Given the description of an element on the screen output the (x, y) to click on. 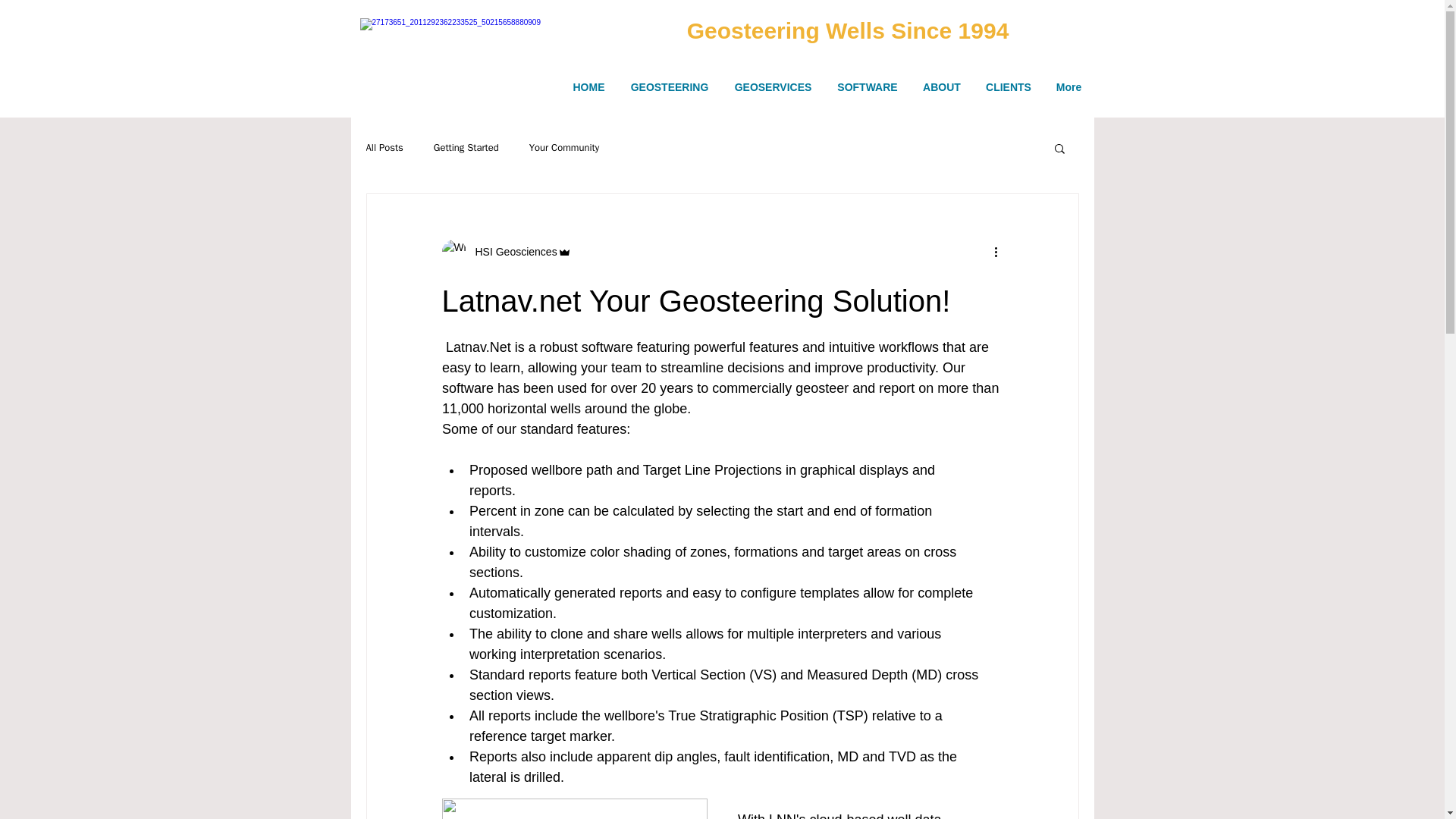
All Posts (384, 147)
HOME (588, 87)
HSI Geosciences (510, 252)
Getting Started (466, 147)
GEOSERVICES (773, 87)
ABOUT (941, 87)
GEOSTEERING (668, 87)
SOFTWARE (868, 87)
Your Community (563, 147)
HSI Geosciences (505, 251)
